Given the description of an element on the screen output the (x, y) to click on. 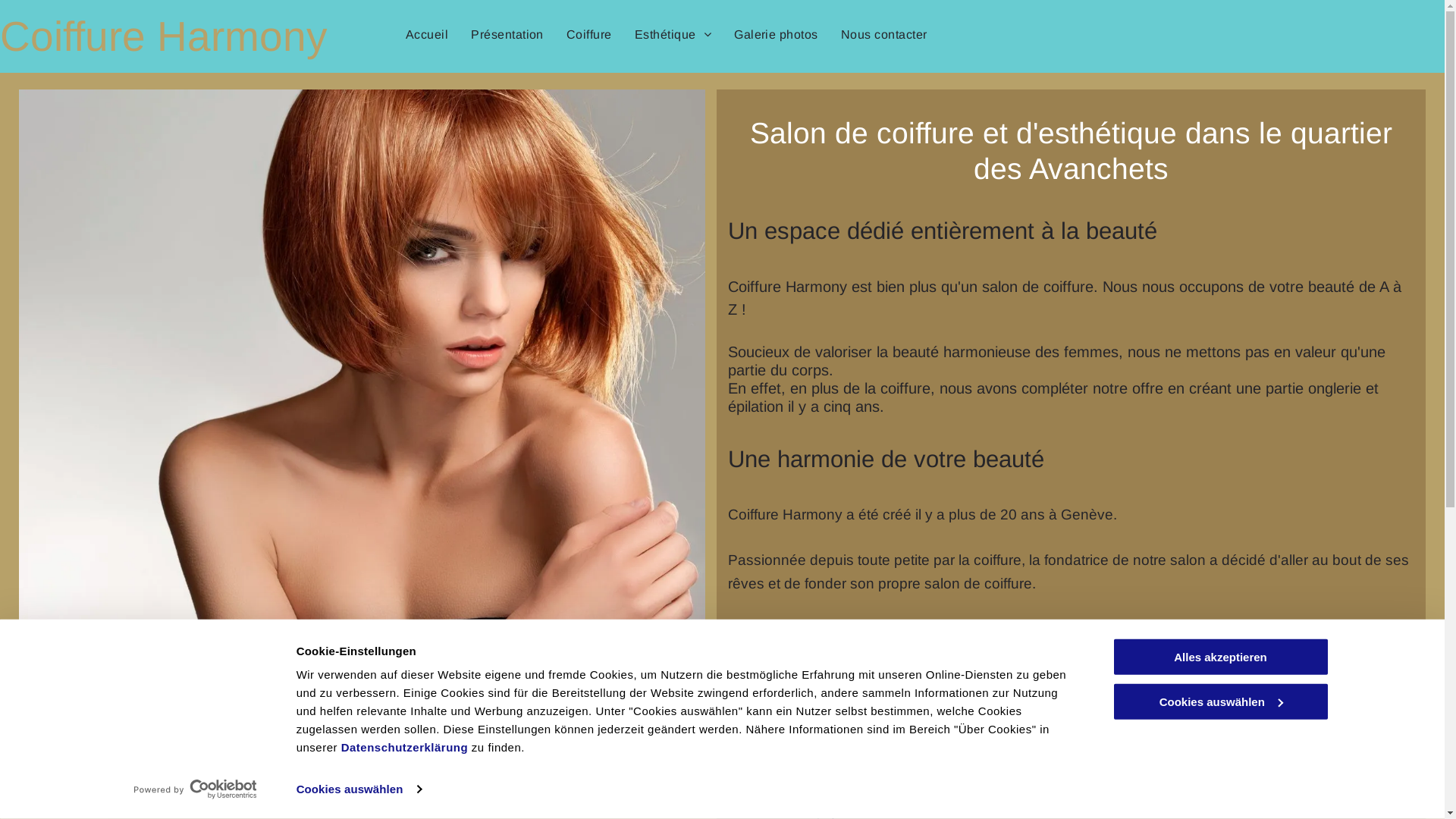
Galerie photos Element type: text (775, 34)
Nous contacter Element type: text (883, 34)
Coiffure Element type: text (589, 34)
Coiffure Harmony Element type: text (163, 35)
Accueil Element type: text (426, 34)
Alles akzeptieren Element type: text (1219, 656)
